Given the description of an element on the screen output the (x, y) to click on. 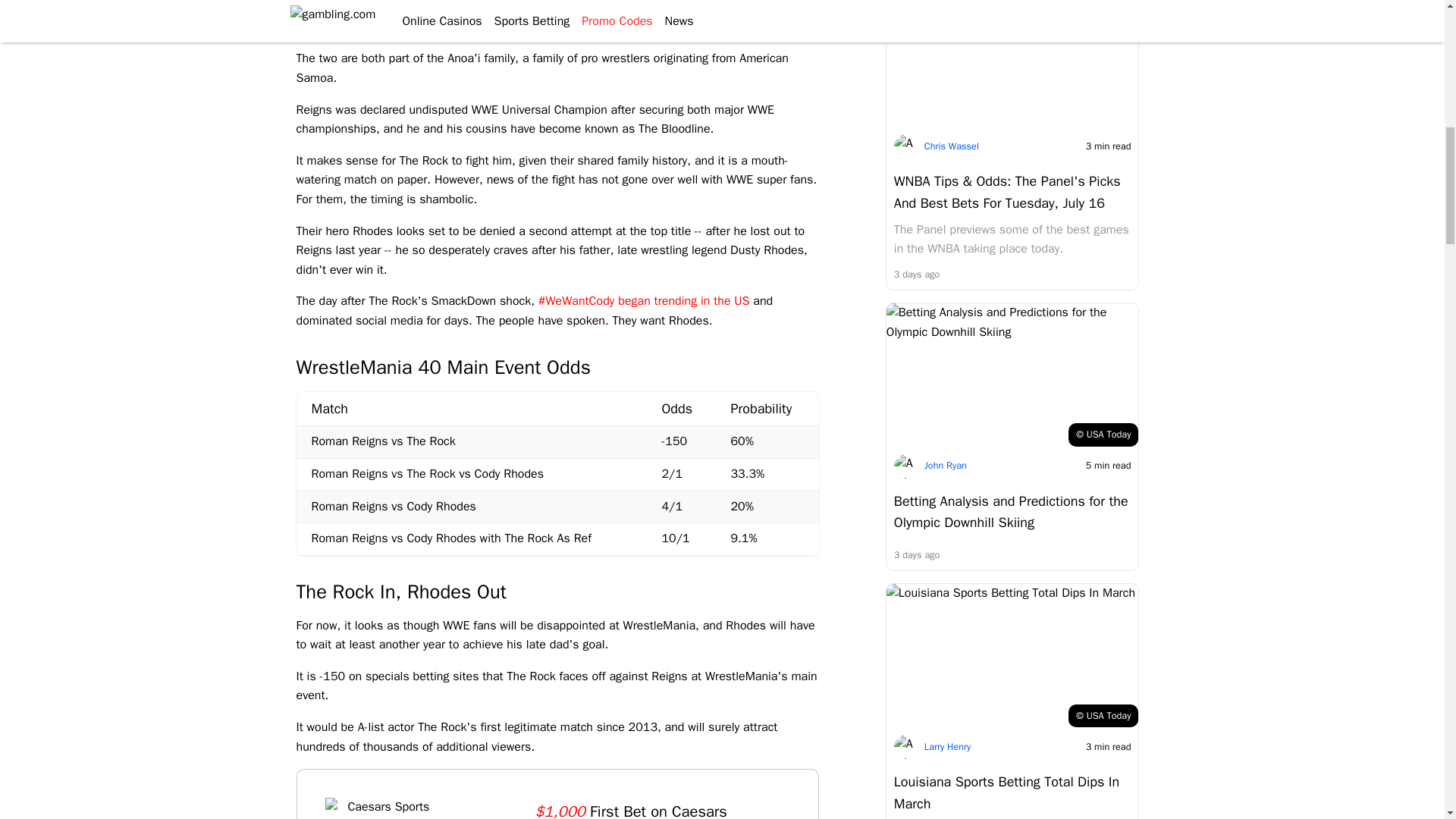
Caesars Sports (381, 808)
